Given the description of an element on the screen output the (x, y) to click on. 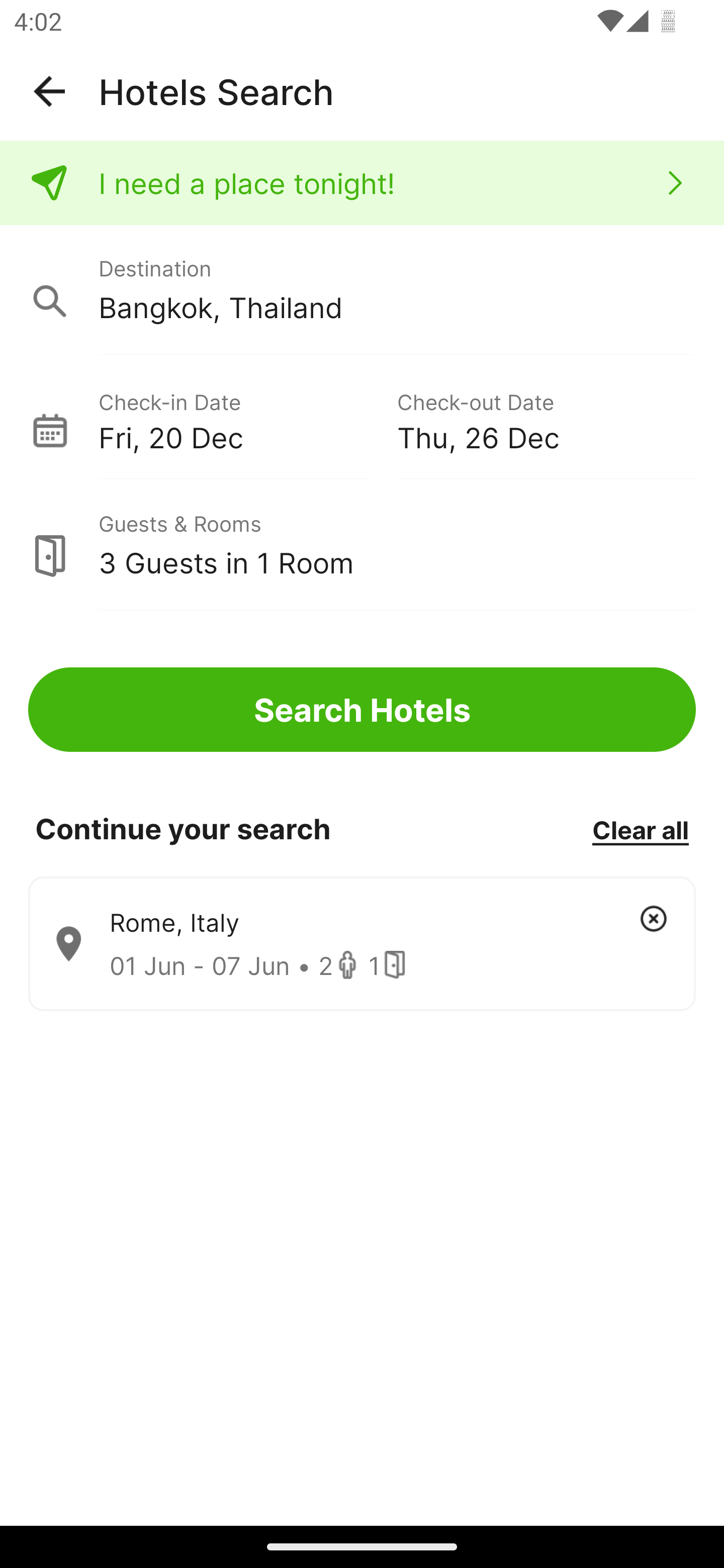
I need a place tonight! (362, 183)
Destination Bangkok, Thailand (362, 290)
Check-in Date Fri, 20 Dec (247, 418)
Check-out Date Thu, 26 Dec (546, 418)
Guests & Rooms 3 Guests in 1 Room (362, 545)
Search Hotels (361, 709)
Clear all (640, 829)
Rome, Italy 01 Jun - 07 Jun • 2  1  (361, 943)
